Given the description of an element on the screen output the (x, y) to click on. 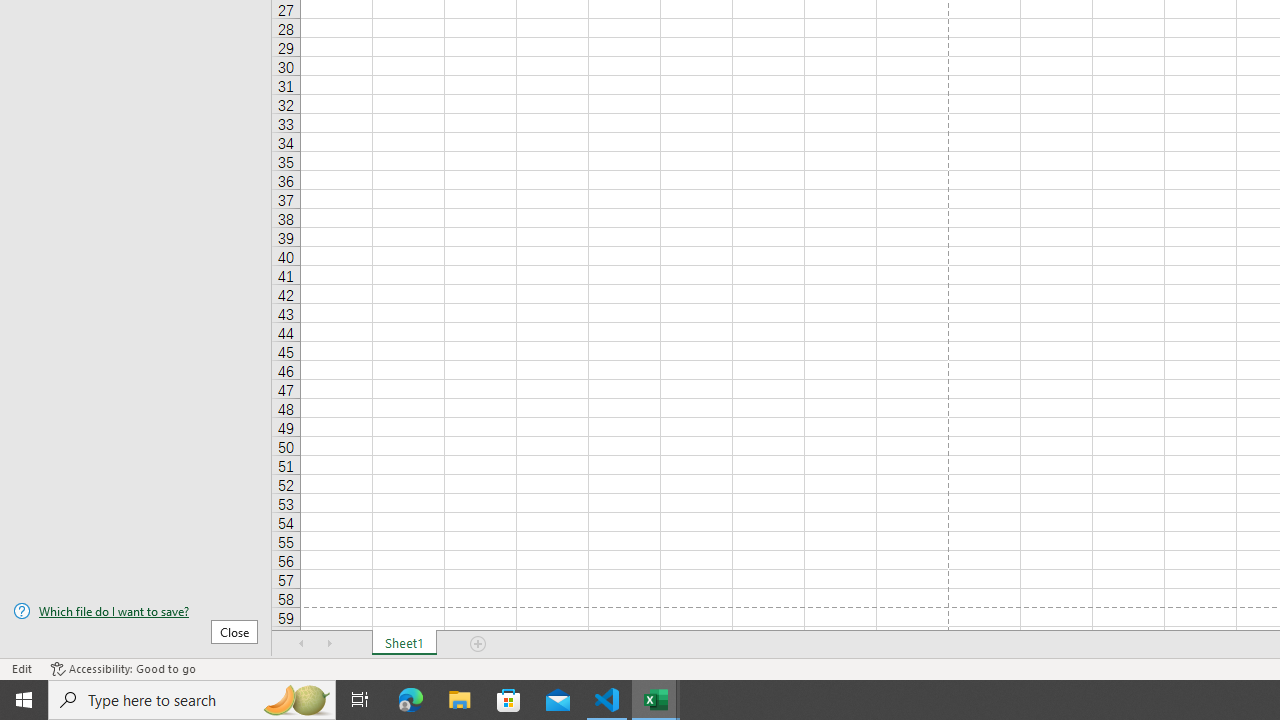
Which file do I want to save? (136, 611)
